Given the description of an element on the screen output the (x, y) to click on. 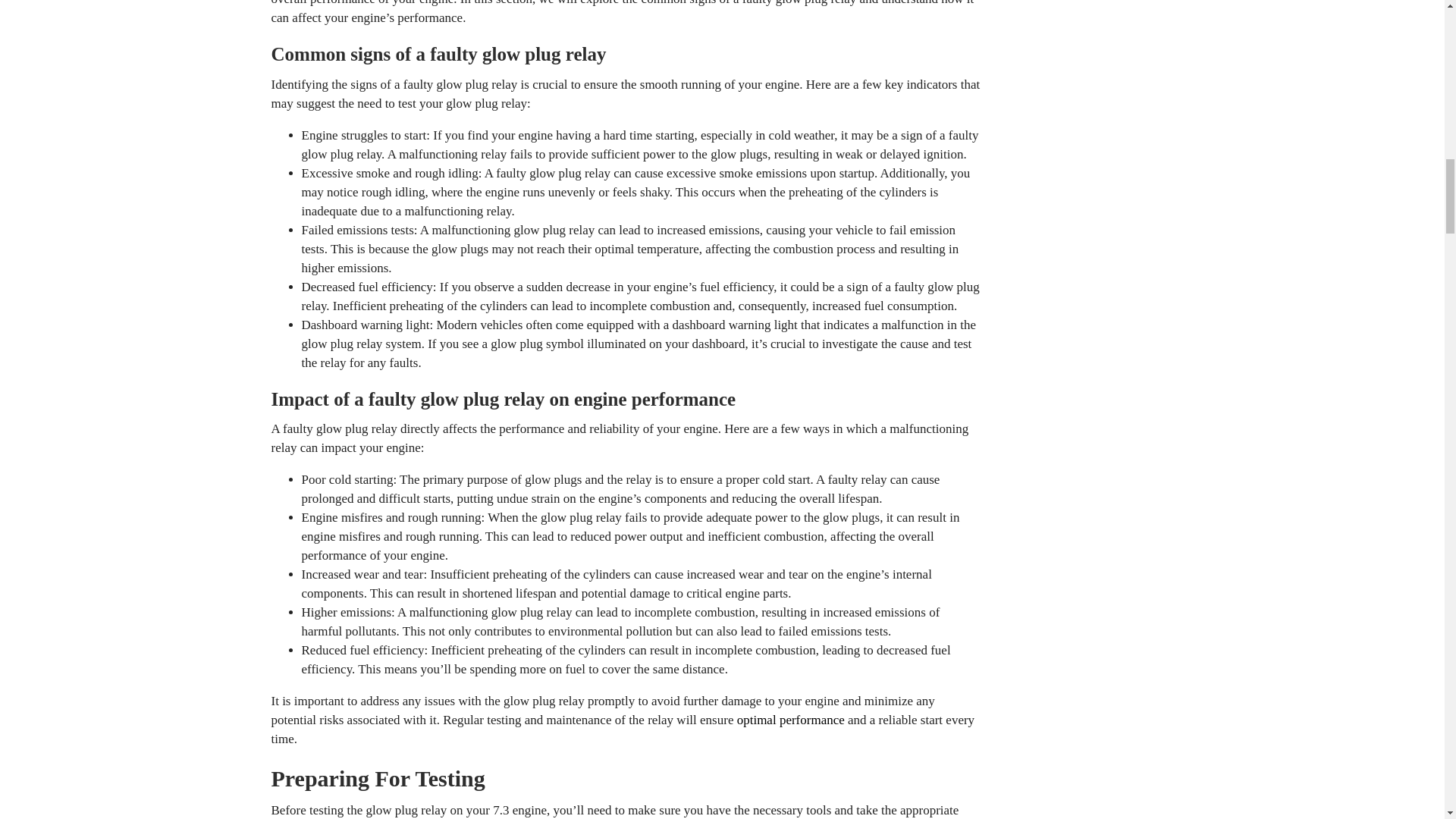
optimal performance (790, 719)
optimal performance (790, 719)
